Given the description of an element on the screen output the (x, y) to click on. 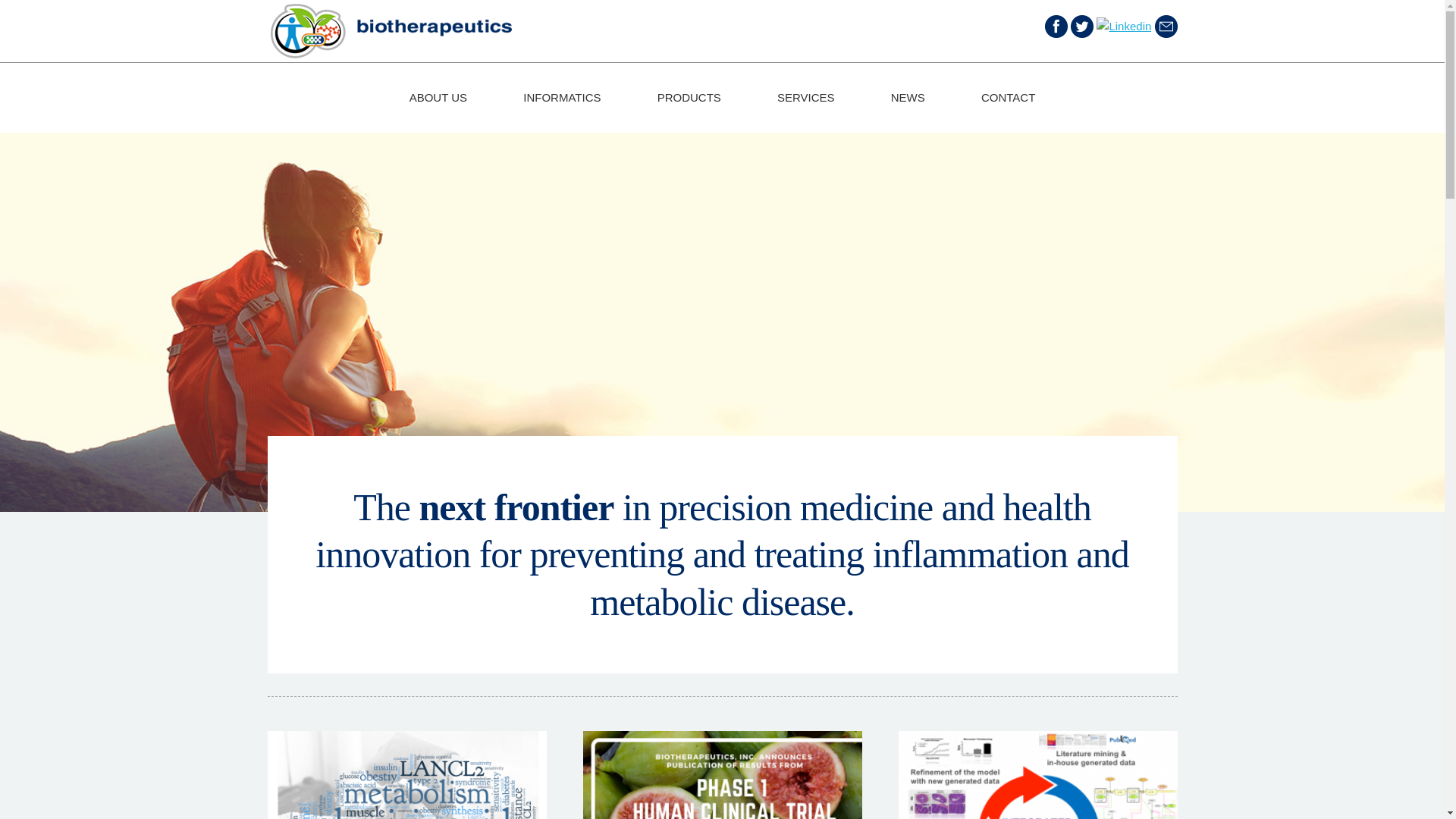
CONTACT (1008, 97)
NEWS (908, 97)
